Given the description of an element on the screen output the (x, y) to click on. 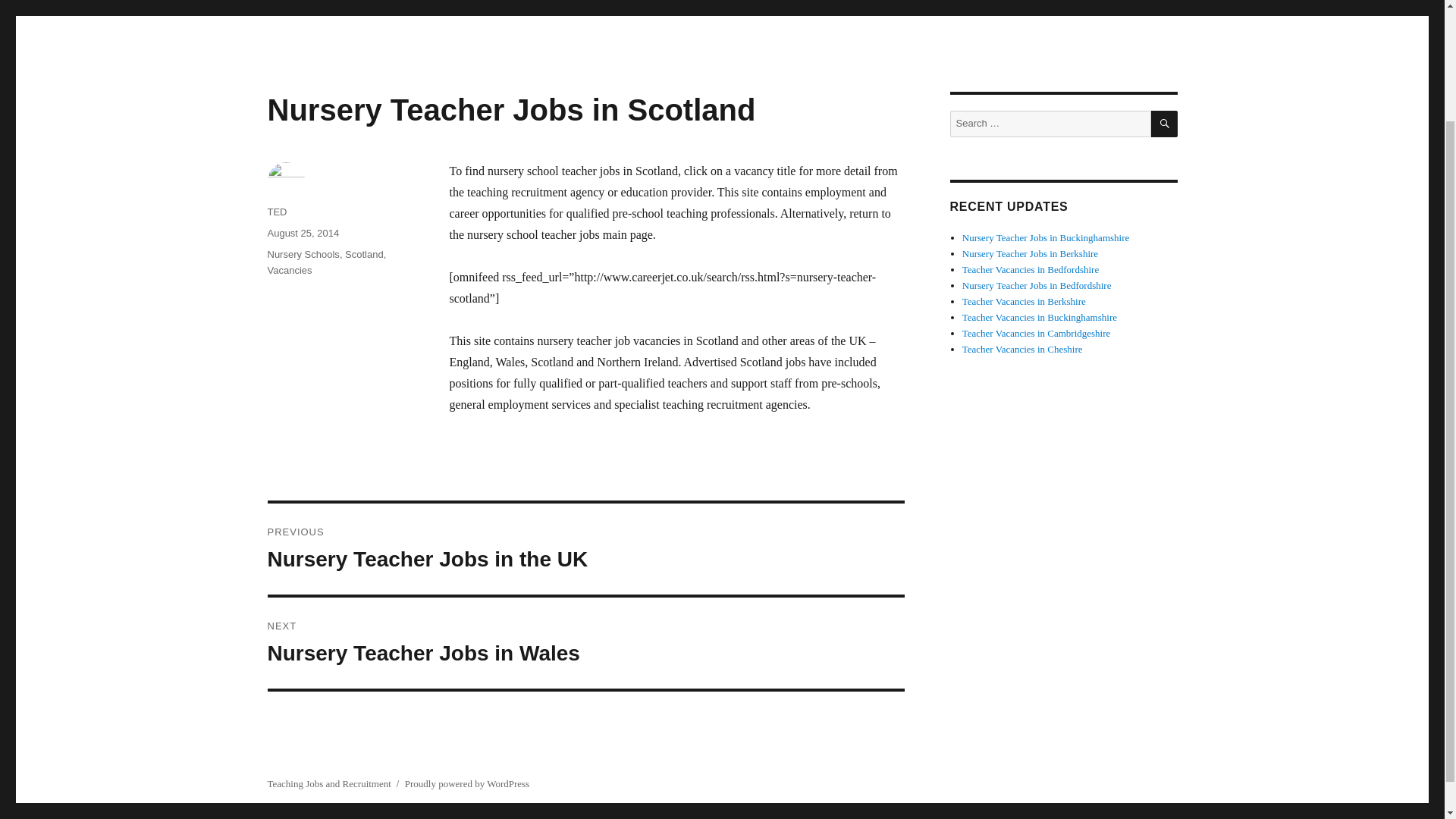
Nursery Teacher Jobs in Berkshire (1029, 253)
Teacher Vacancies in Buckinghamshire (1039, 317)
Teacher Vacancies in Bedfordshire (585, 642)
SEARCH (1030, 269)
Teacher Vacancies in Cambridgeshire (1164, 123)
August 25, 2014 (1036, 333)
Teaching Jobs and Recruitment (302, 233)
Nursery Schools (328, 783)
